Given the description of an element on the screen output the (x, y) to click on. 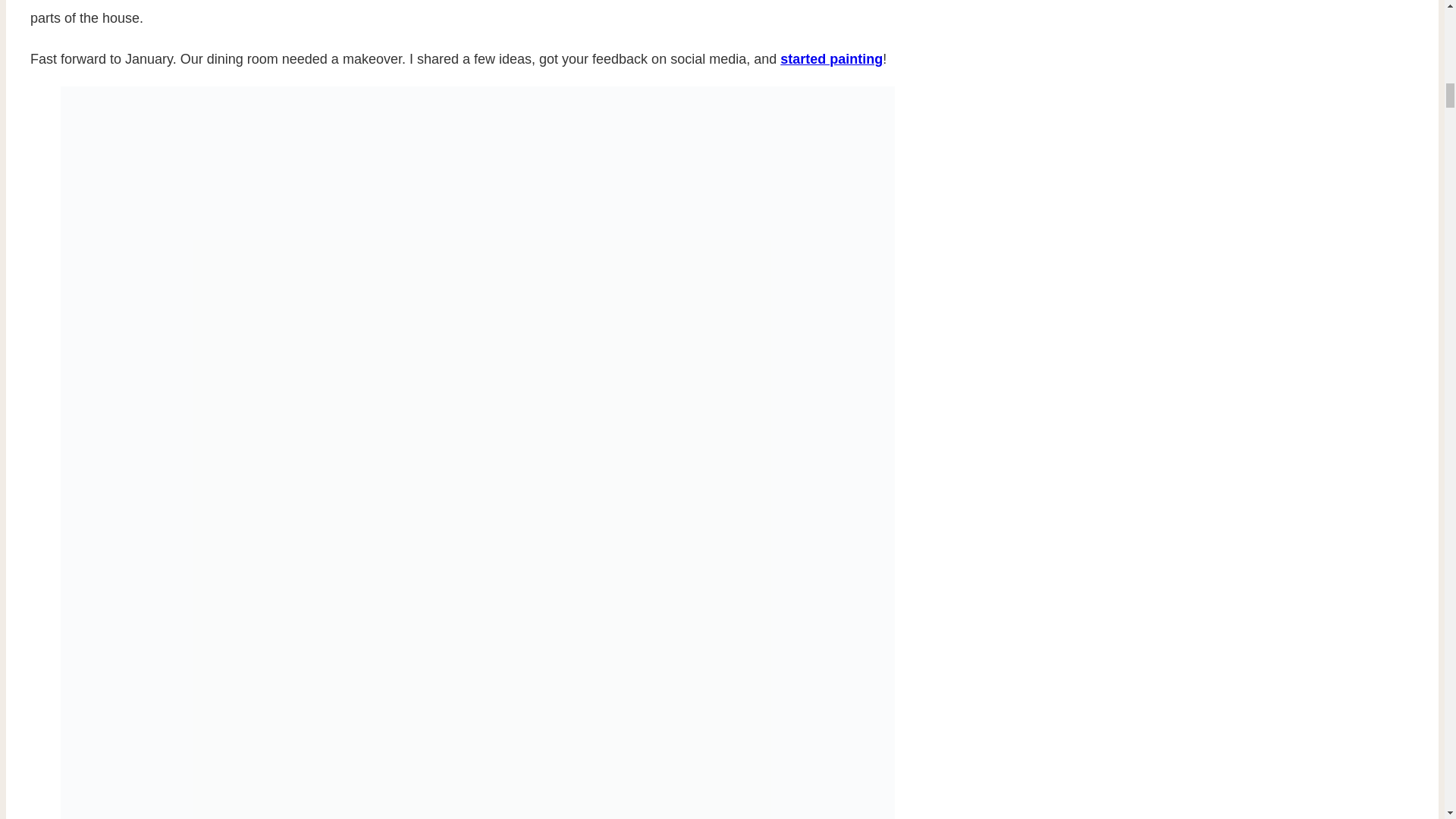
started painting (831, 58)
